Given the description of an element on the screen output the (x, y) to click on. 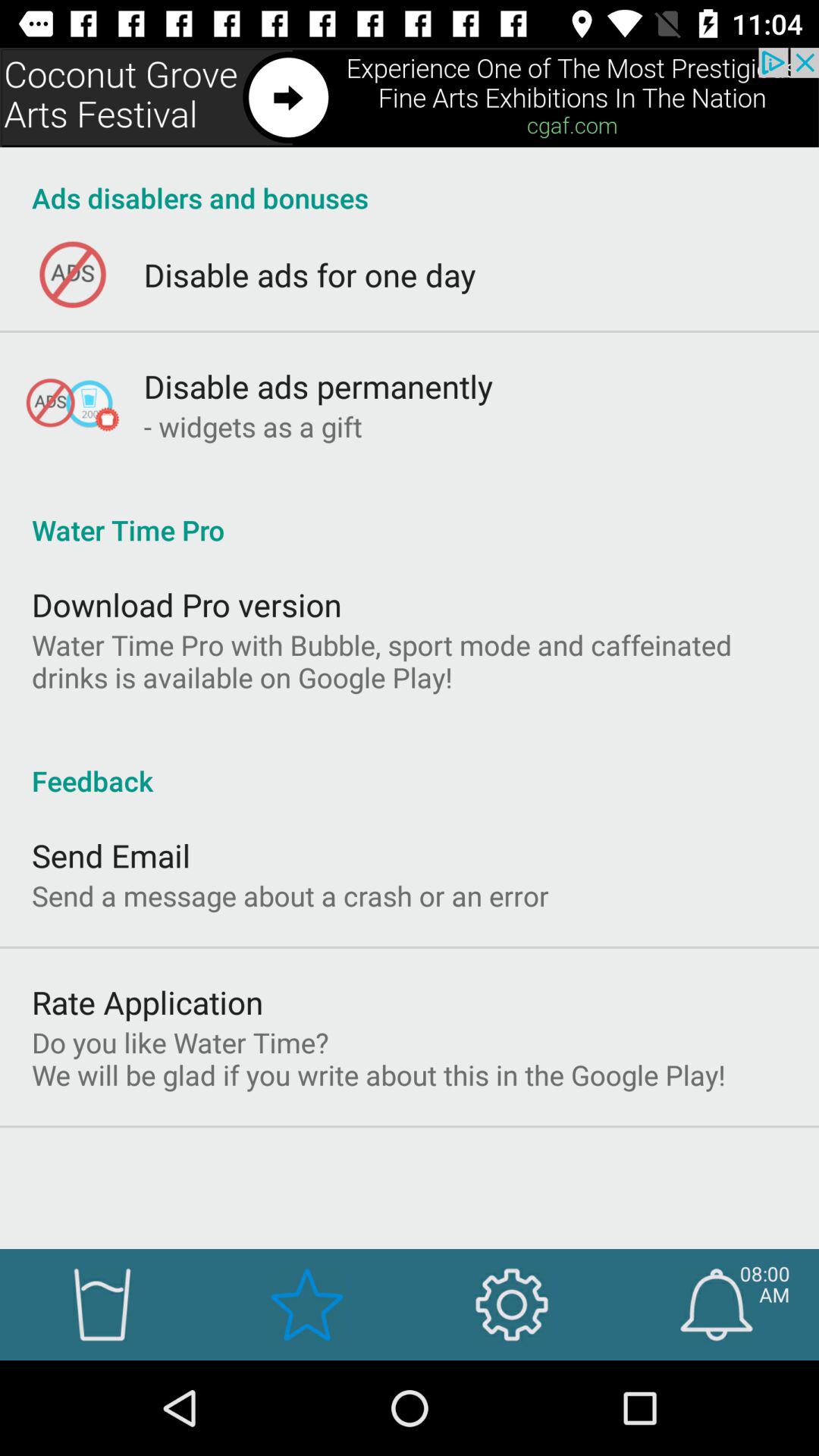
click the advertisement (409, 97)
